Given the description of an element on the screen output the (x, y) to click on. 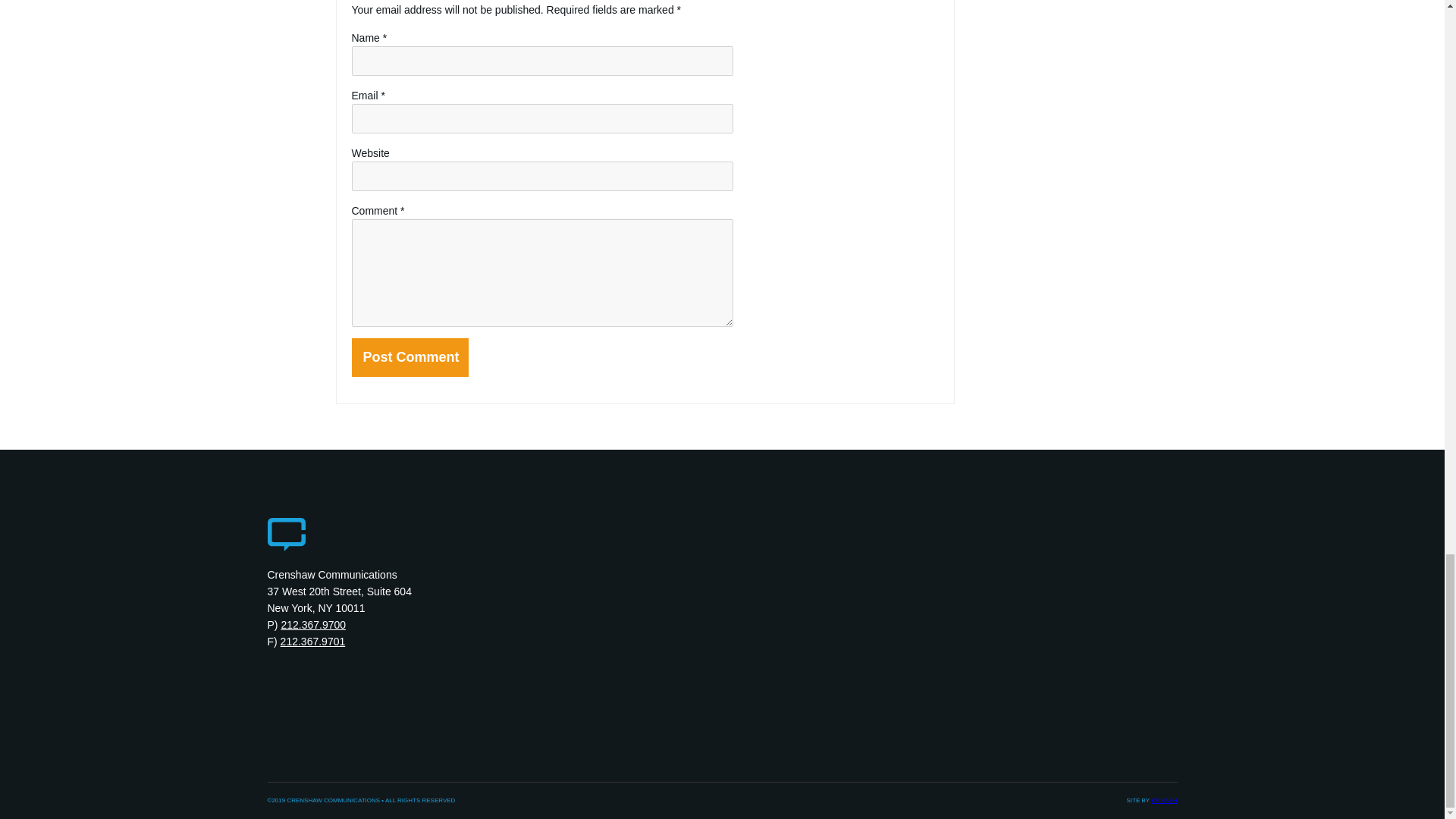
212.367.9700 (313, 624)
Post Comment (410, 357)
212.367.9701 (313, 641)
Post Comment (410, 357)
